Given the description of an element on the screen output the (x, y) to click on. 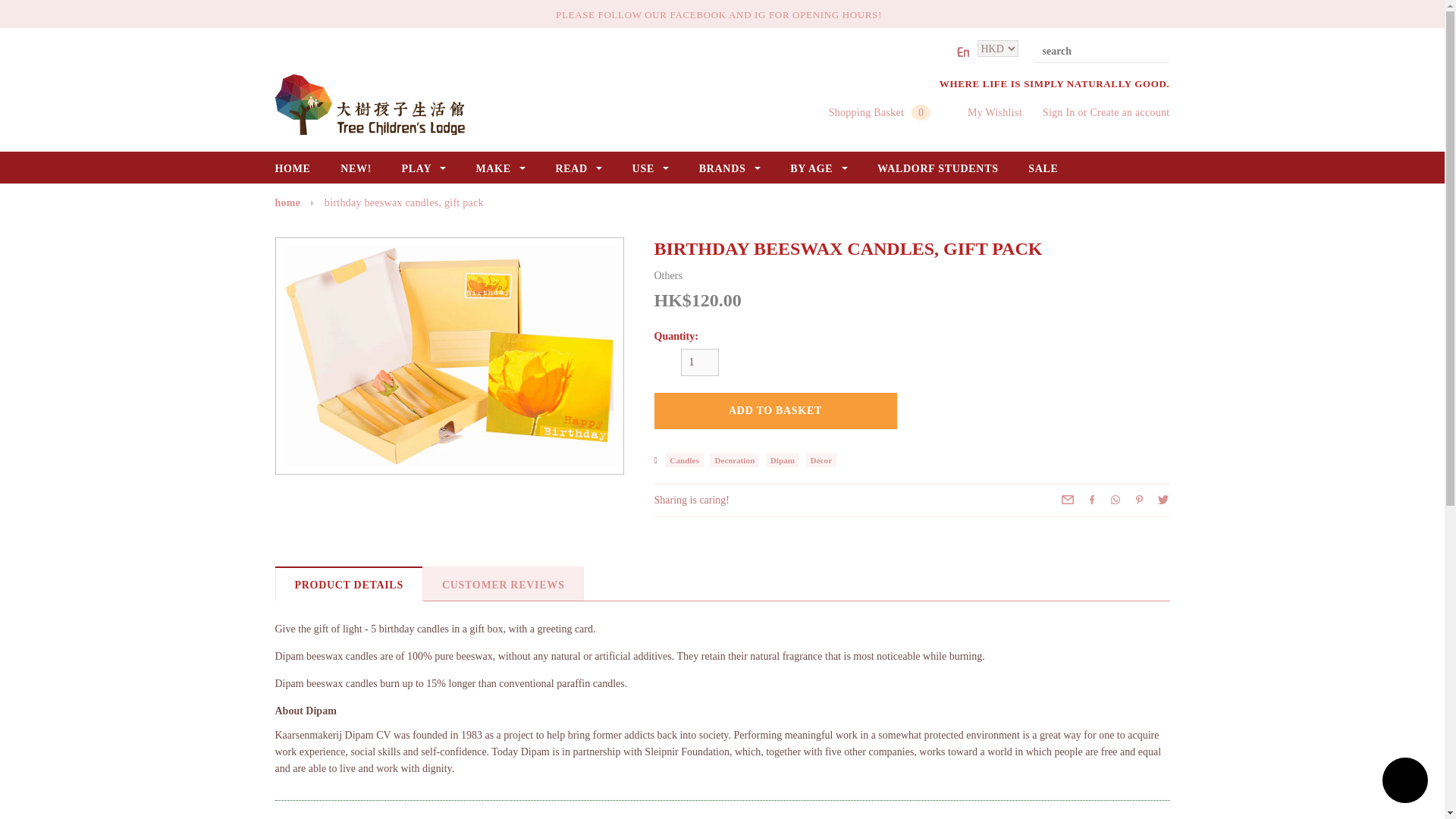
CLOSE (1166, 12)
Search (1158, 51)
Email (1067, 498)
HOME (292, 168)
NEW! (355, 168)
Shopping Basket 0 (879, 112)
Create an account (1129, 112)
1 (700, 361)
Sign In (1058, 112)
PLAY (423, 168)
